Given the description of an element on the screen output the (x, y) to click on. 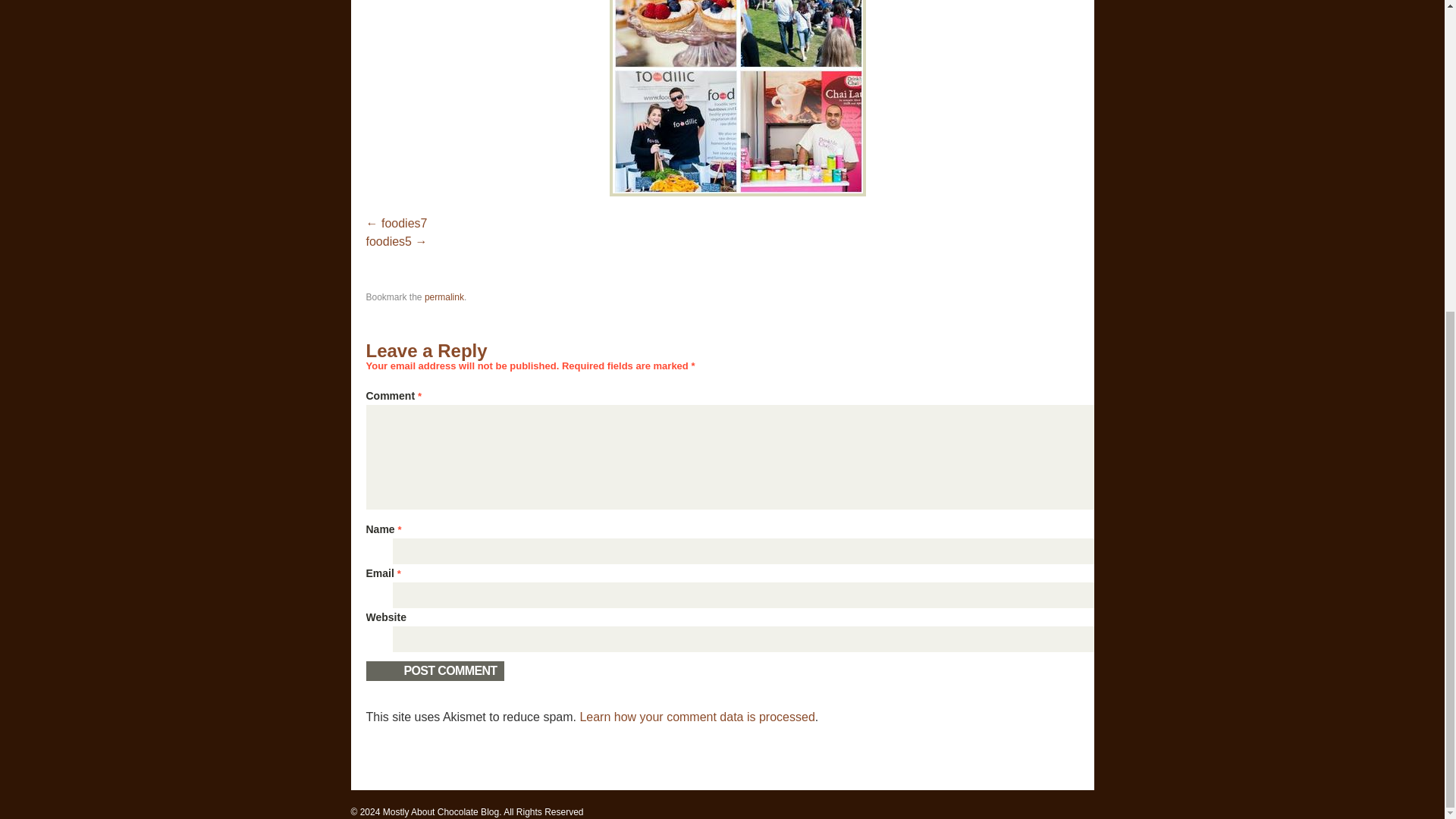
Learn how your comment data is processed (696, 716)
foodies5 (395, 241)
foodies7 (395, 223)
Mostly About Chocolate Blog (440, 811)
permalink (444, 296)
Post Comment (434, 670)
Mostly About Chocolate Blog (440, 811)
Permalink to foodies6 (444, 296)
Post Comment (434, 670)
